Given the description of an element on the screen output the (x, y) to click on. 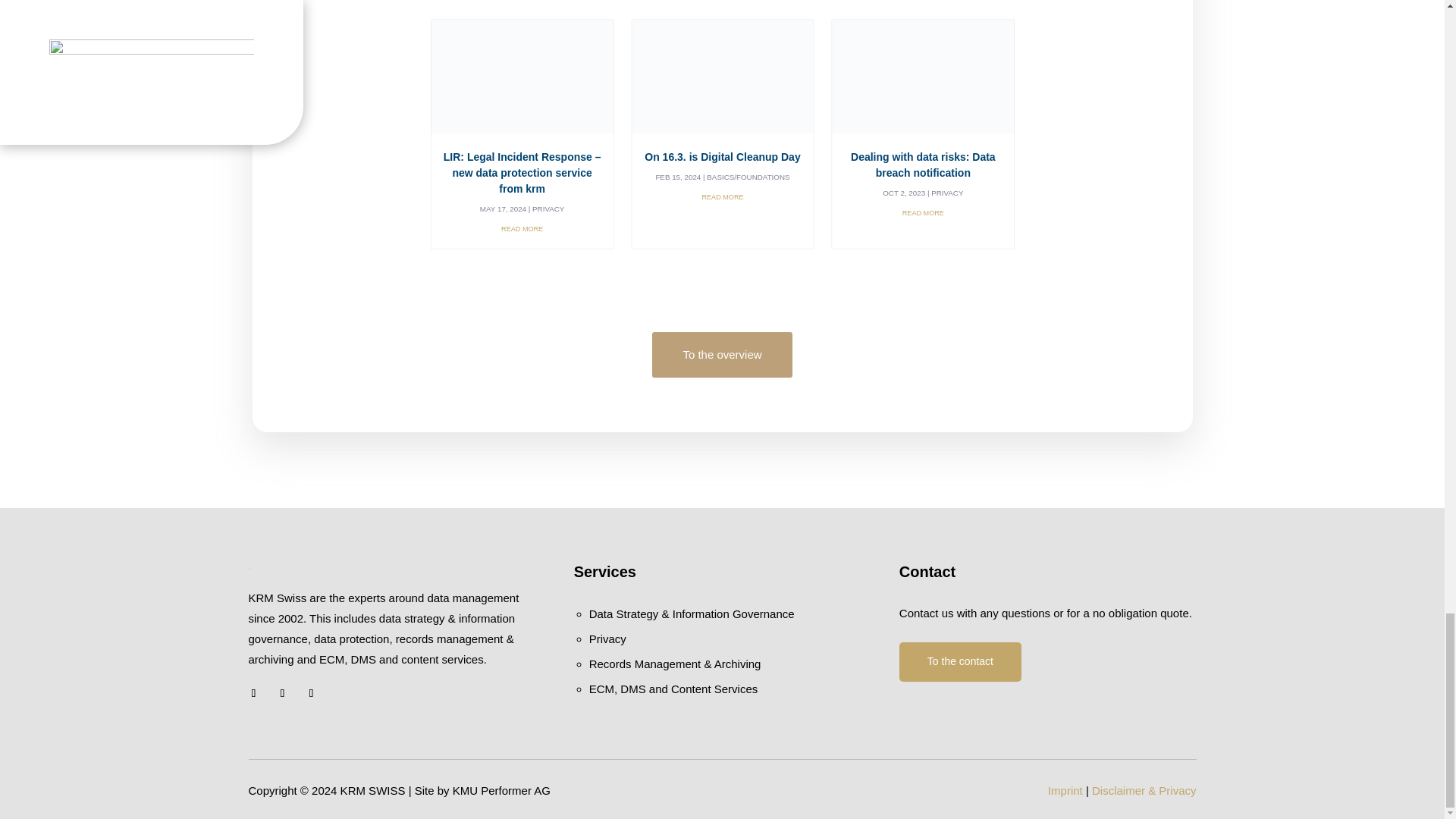
Follow on Youtube (311, 692)
Follow on LinkedIn (282, 692)
Follow on X (253, 692)
